Given the description of an element on the screen output the (x, y) to click on. 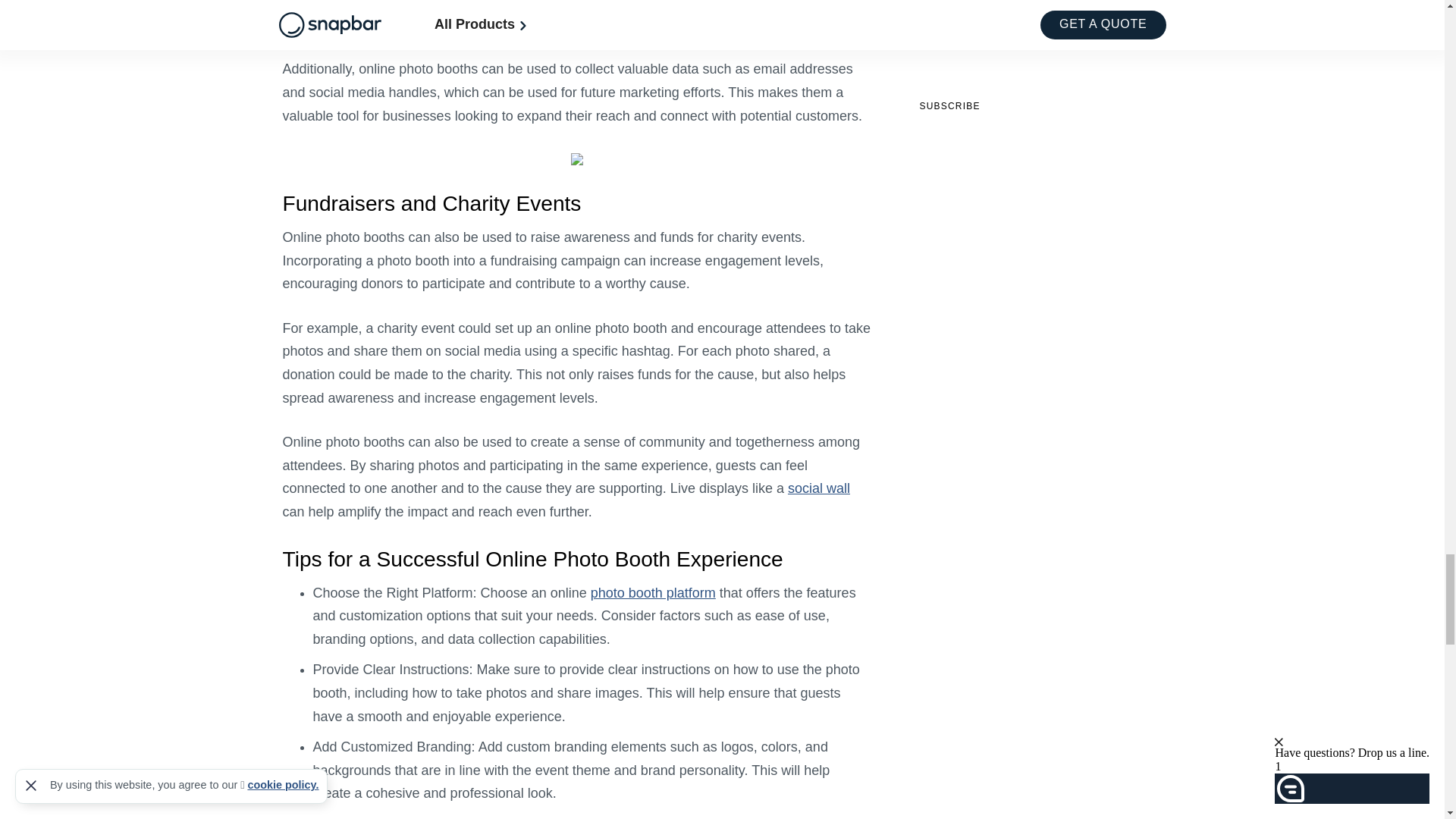
photo booth platform (653, 592)
social wall (818, 488)
